Given the description of an element on the screen output the (x, y) to click on. 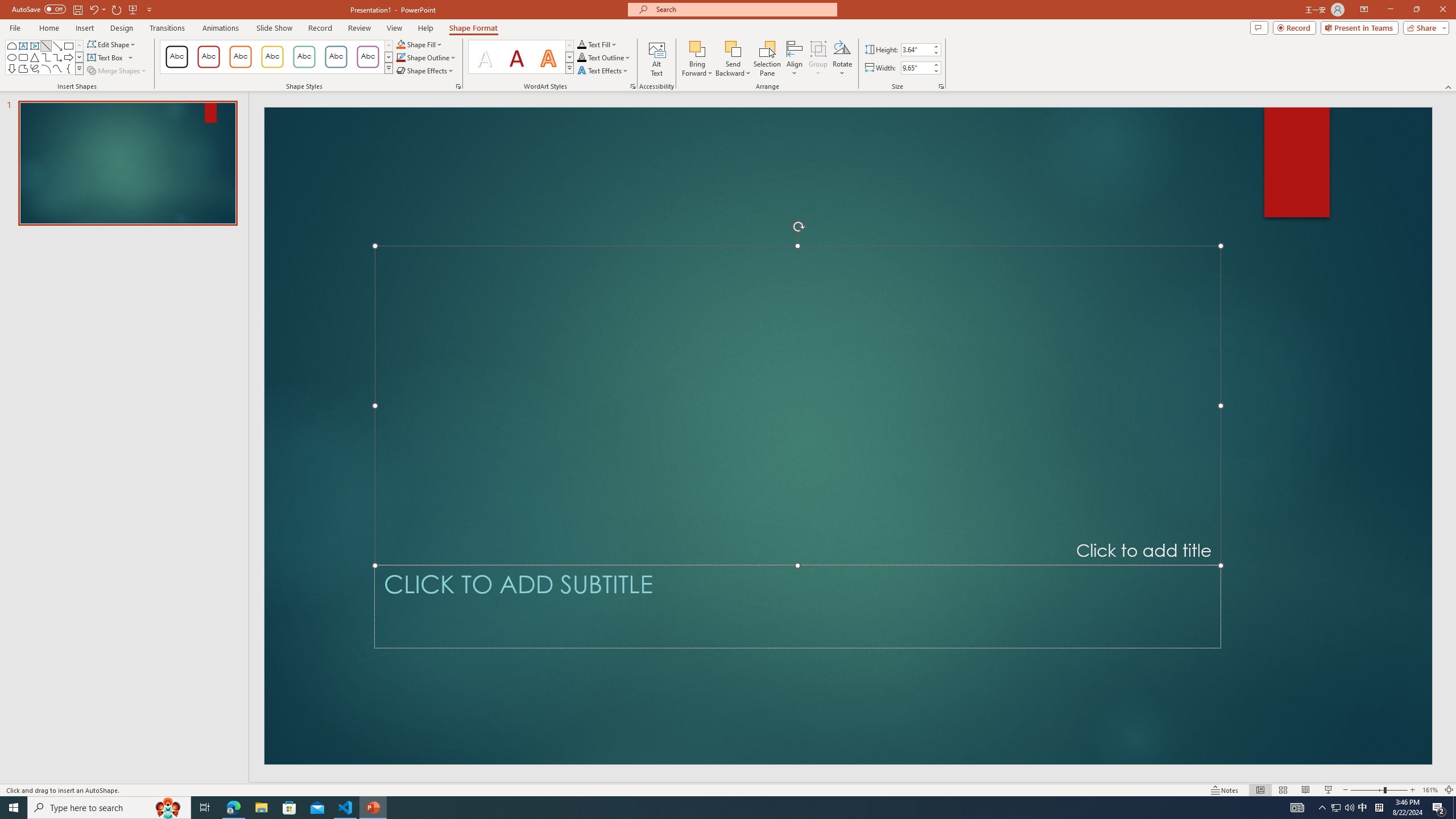
Text Box (110, 56)
Vertical Text Box (34, 45)
Zoom 161% (1430, 790)
Alt Text (656, 58)
Left Brace (68, 68)
AutomationID: ShapesInsertGallery (44, 57)
Less (935, 70)
Arrow: Right (68, 57)
Curve (57, 68)
Fill: Dark Red, Accent color 1; Shadow (516, 56)
